Given the description of an element on the screen output the (x, y) to click on. 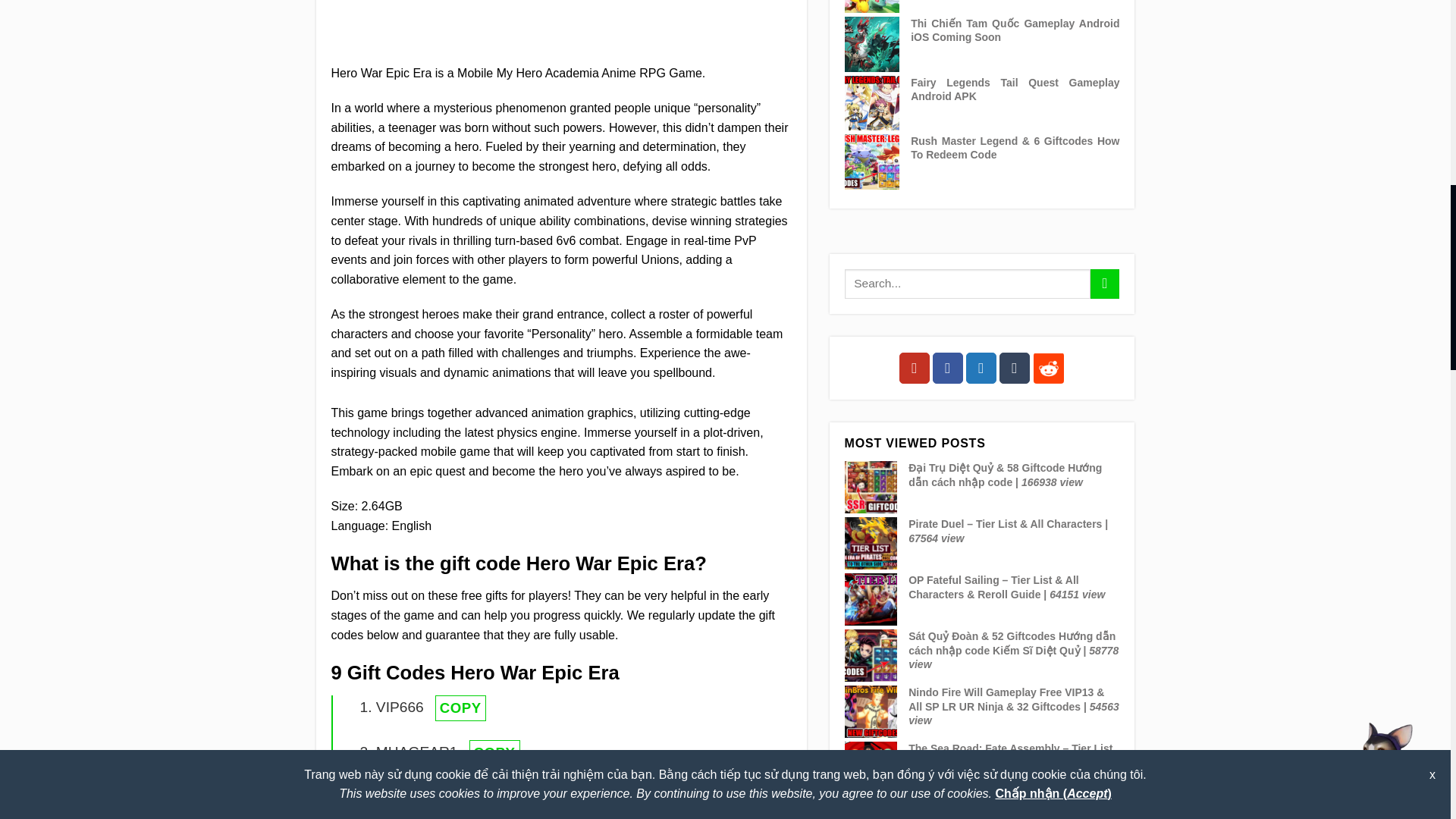
COPY (493, 752)
COPY (493, 797)
COPY (460, 708)
